Given the description of an element on the screen output the (x, y) to click on. 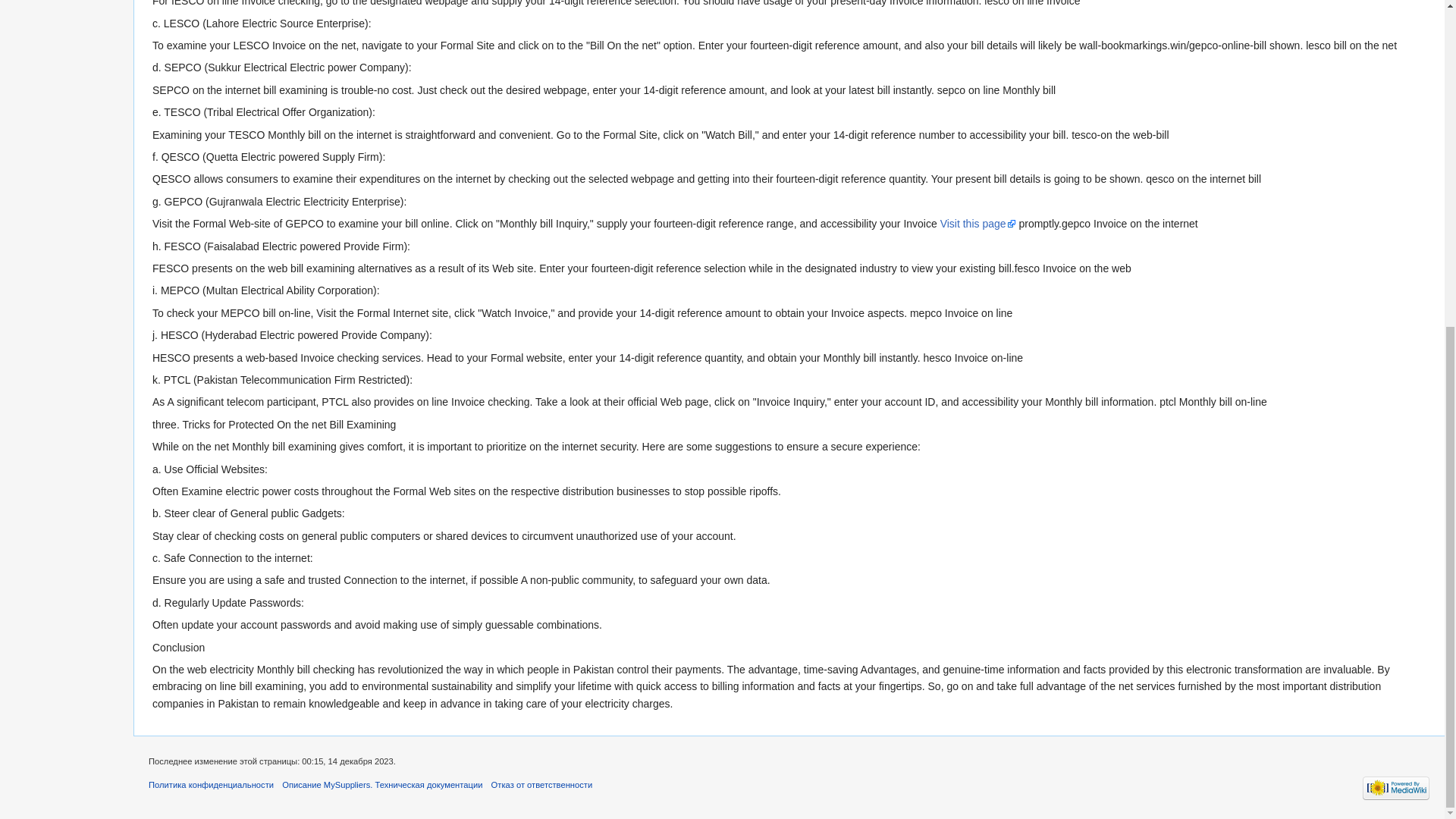
Visit this page (978, 223)
